Given the description of an element on the screen output the (x, y) to click on. 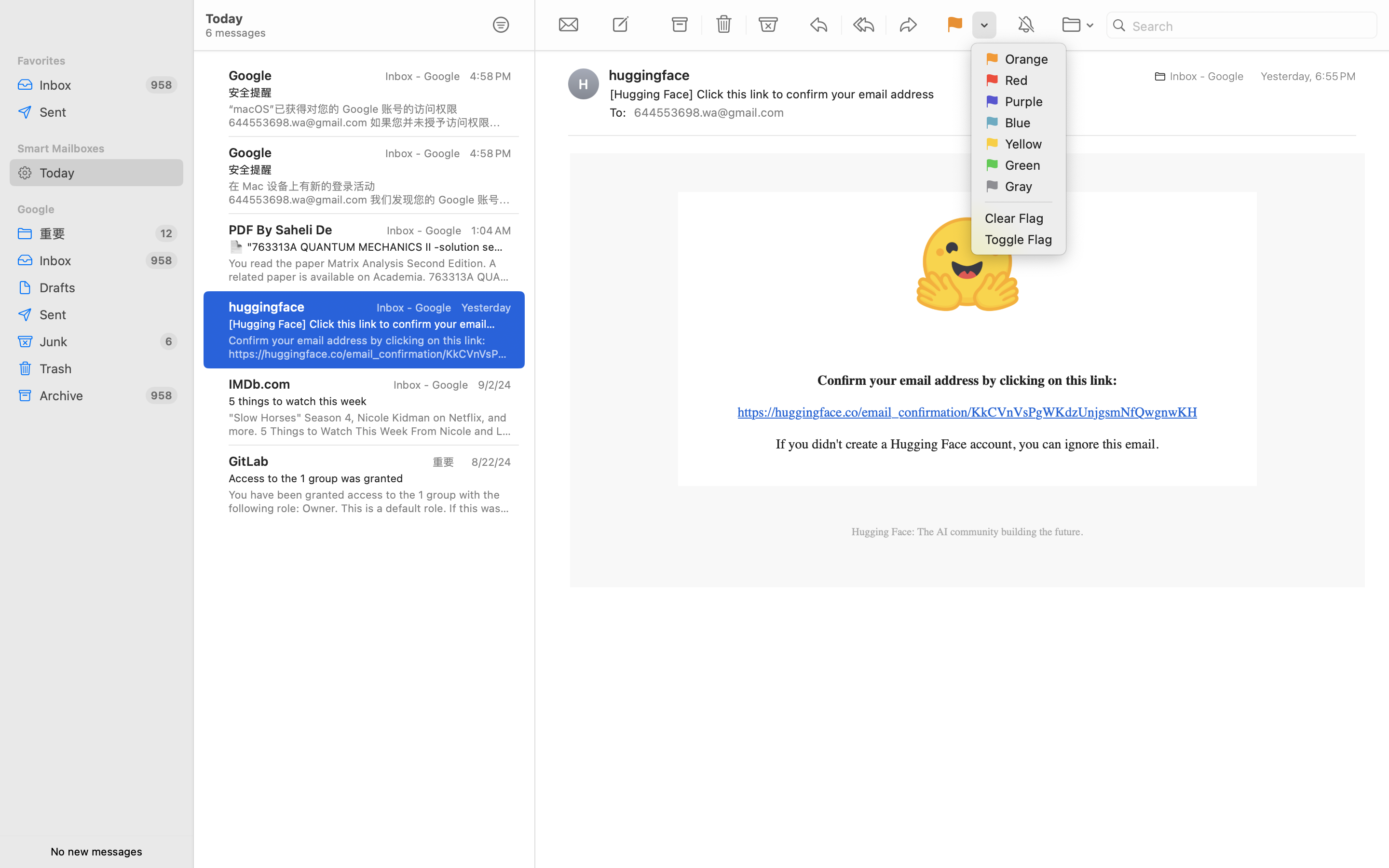
Archive Element type: AXStaticText (88, 395)
6 messages Element type: AXStaticText (338, 800)
9/2/24 Element type: AXStaticText (493, 384)
“macOS”已获得对您的 Google 账号的访问权限 644553698.wa@gmail.com 如果您并未授予访问权限，则应检查此活动，并确保您的账号安全。 查看活动 您也可以访问以下网址查看安全性活动： https://myaccount.google.com/notifications 我们向您发送这封电子邮件，目的是让您了解关于您的 Google 账号和服务的重大变化。 © 2024 Google LLC, 1600 Amphitheatre Parkway, Mountain View, CA 94043, USA Element type: AXStaticText (369, 115)
Confirm your email address by clicking on this link: Element type: AXStaticText (967, 380)
